Given the description of an element on the screen output the (x, y) to click on. 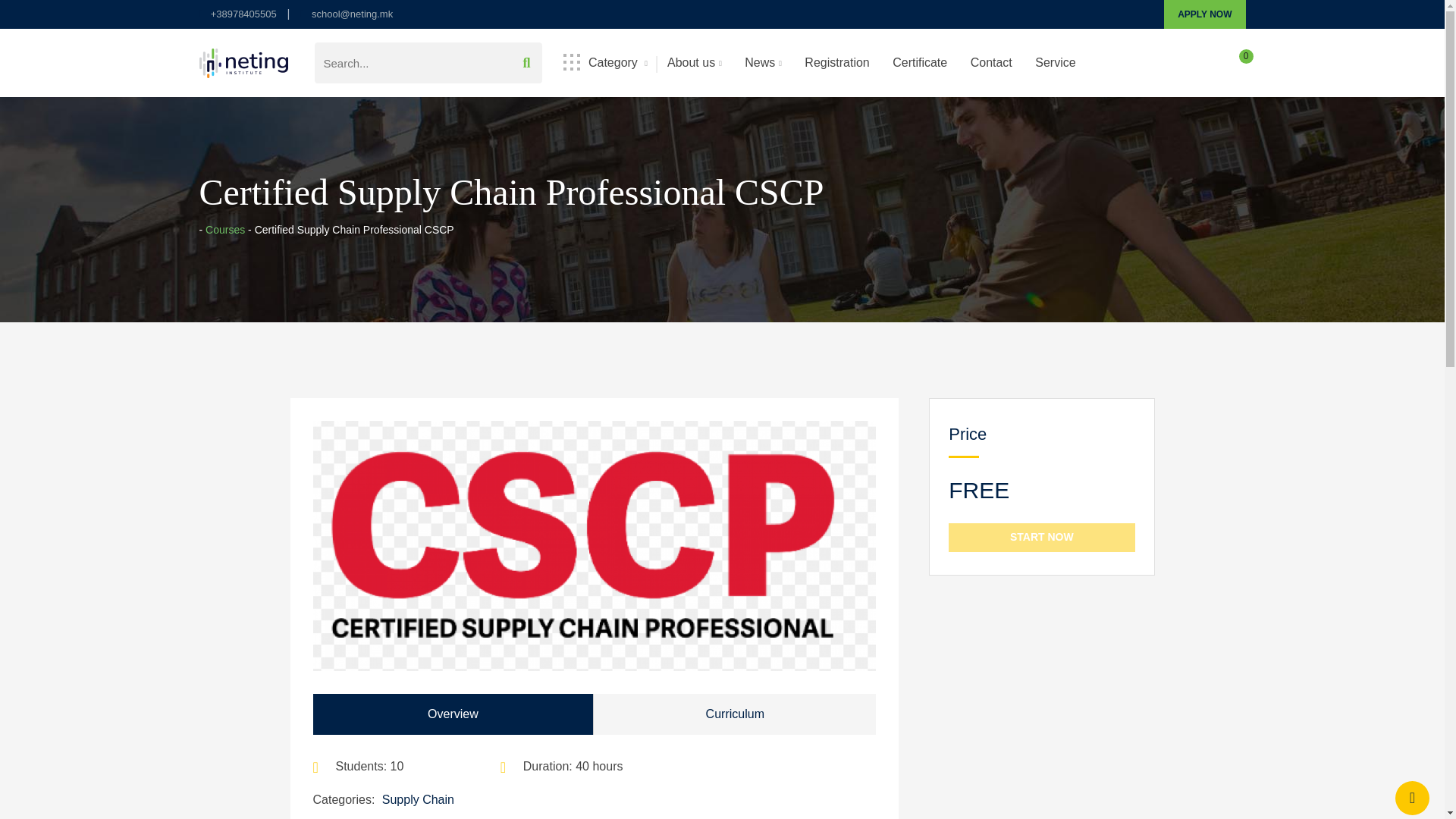
APPLY NOW (1203, 14)
Go to Courses. (224, 229)
Category (605, 62)
